Given the description of an element on the screen output the (x, y) to click on. 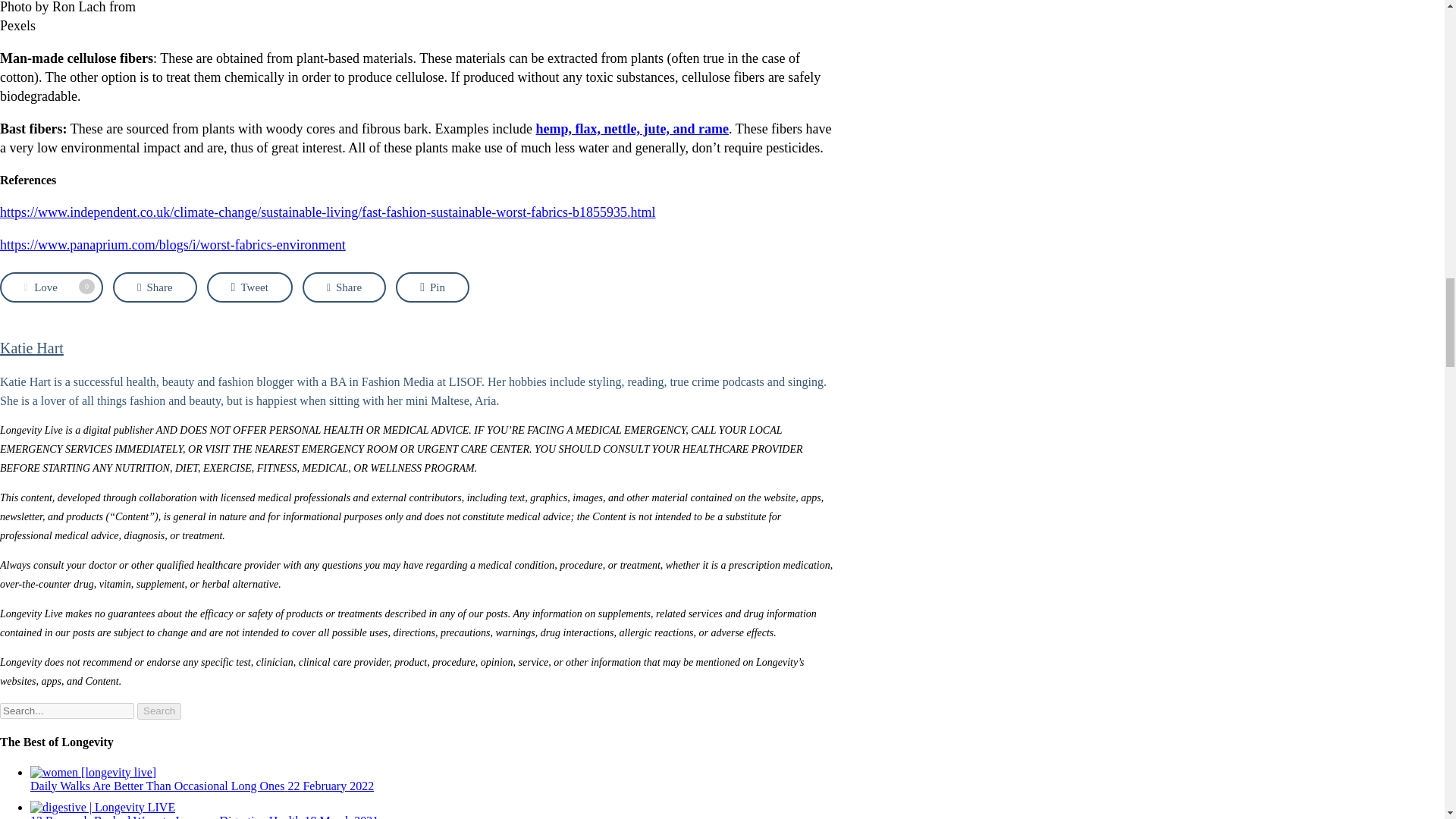
Search for: (66, 710)
Pin this (432, 286)
Love this (51, 286)
Share this (343, 286)
Tweet this (249, 286)
Share this (154, 286)
